Given the description of an element on the screen output the (x, y) to click on. 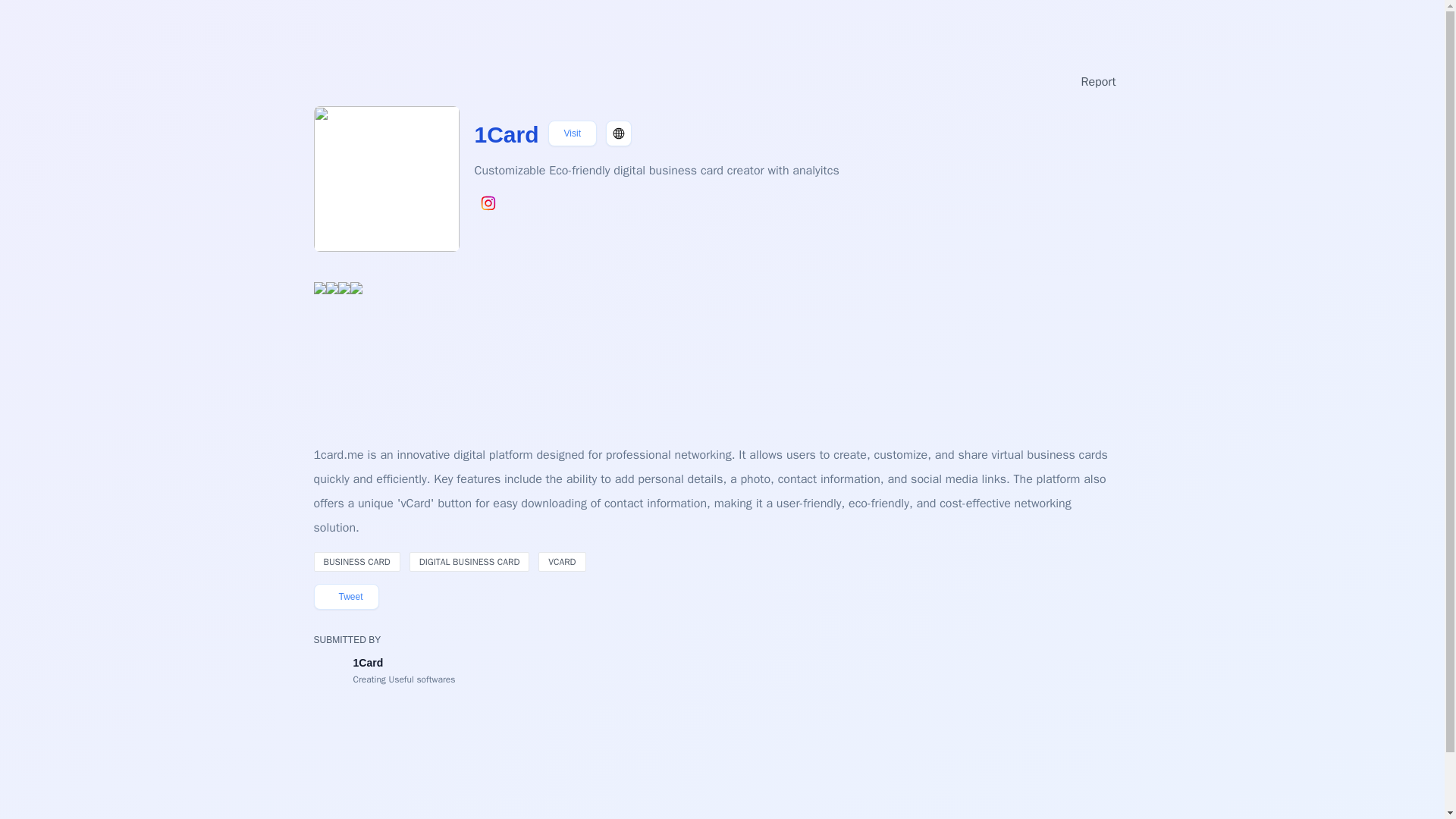
VCARD (561, 561)
BUSINESS CARD (357, 561)
Tweet (346, 596)
Visit (572, 133)
DIGITAL BUSINESS CARD (469, 561)
